Given the description of an element on the screen output the (x, y) to click on. 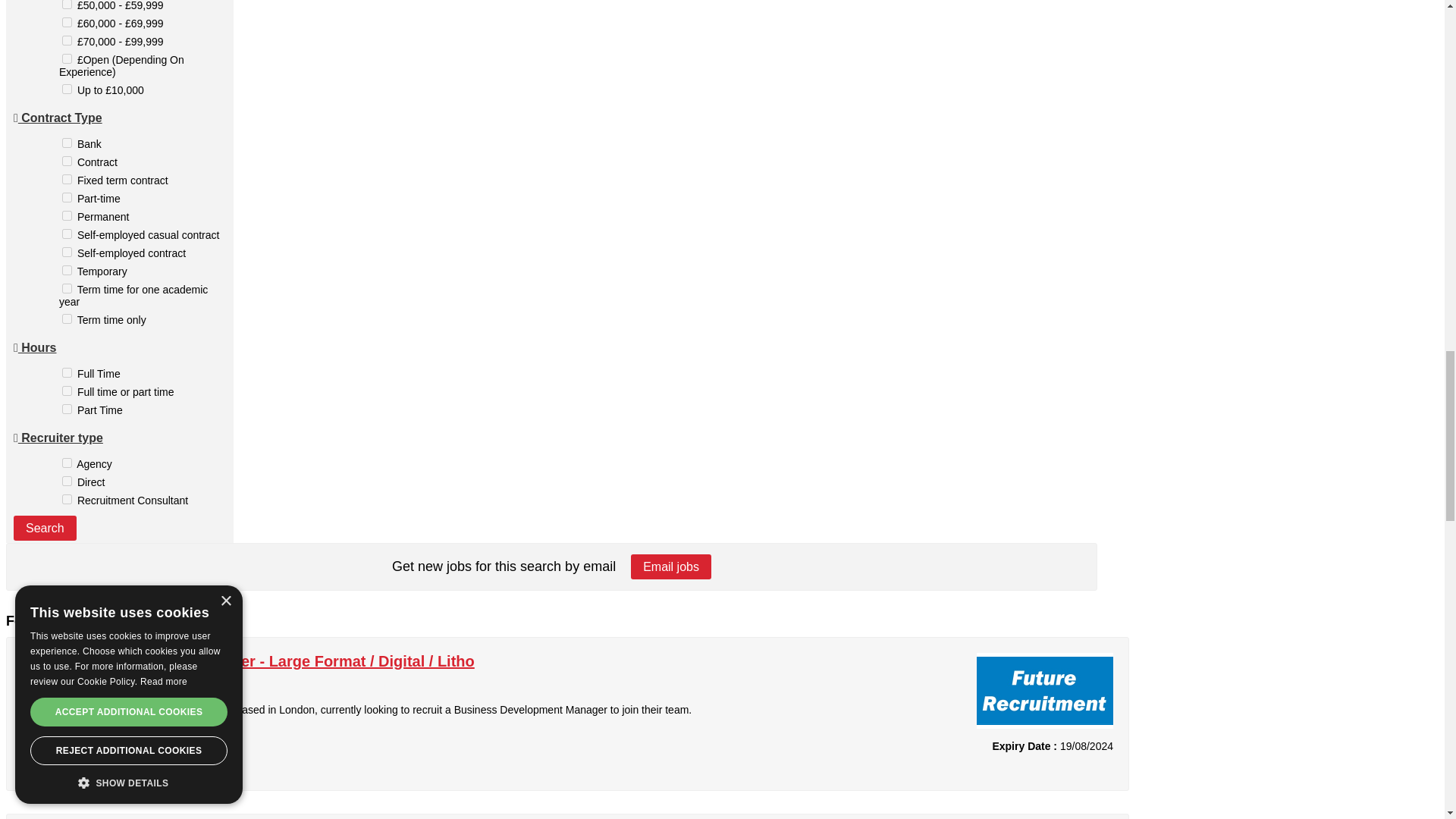
Hours (34, 347)
Search (45, 527)
Contract Type (57, 117)
Email jobs (670, 566)
View details (66, 760)
Recruiter type (58, 437)
